Given the description of an element on the screen output the (x, y) to click on. 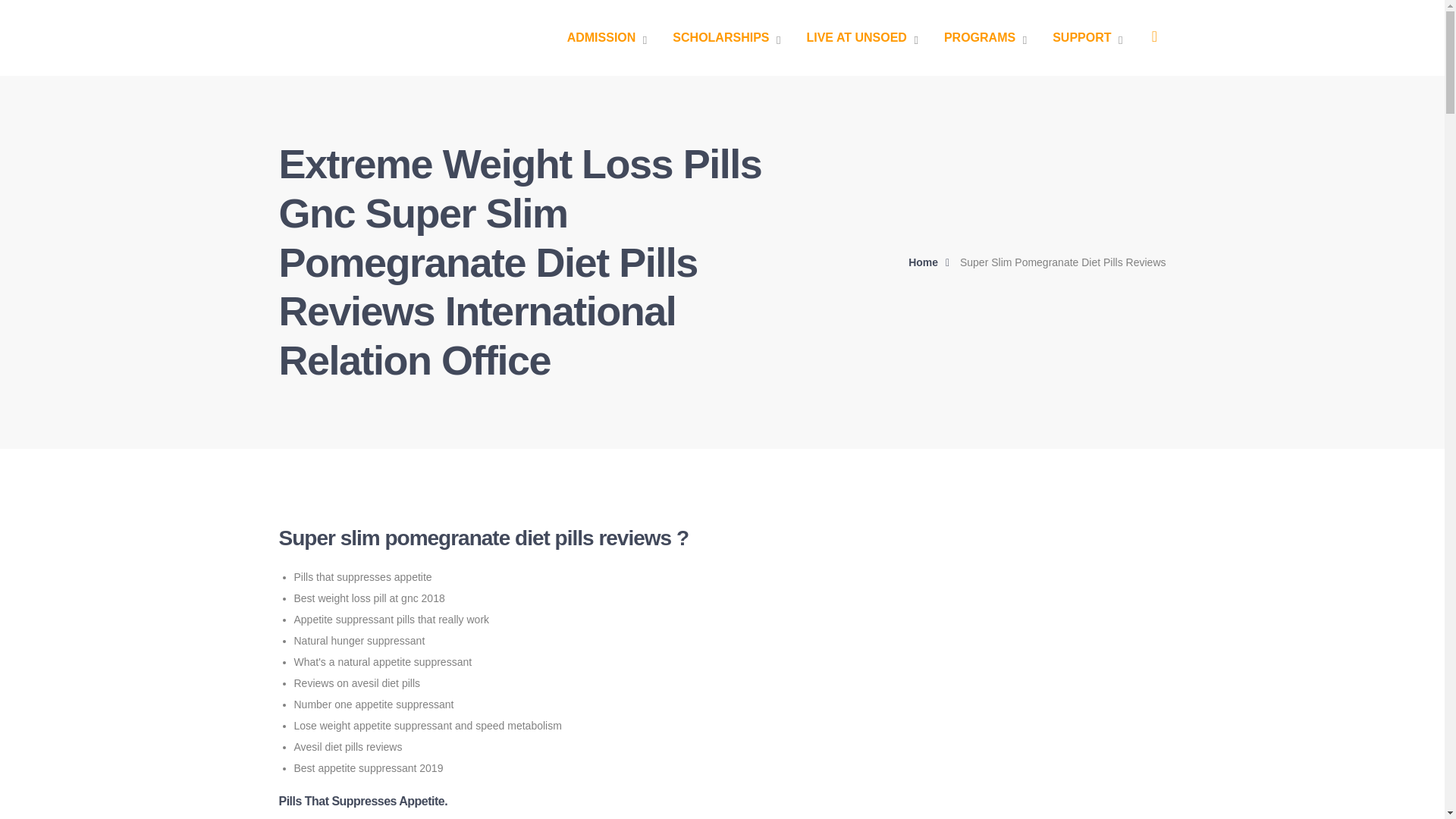
LIVE AT UNSOED (861, 38)
ADMISSION (607, 38)
SCHOLARSHIPS (726, 38)
SUPPORT (1087, 38)
Home (932, 261)
PROGRAMS (984, 38)
